Given the description of an element on the screen output the (x, y) to click on. 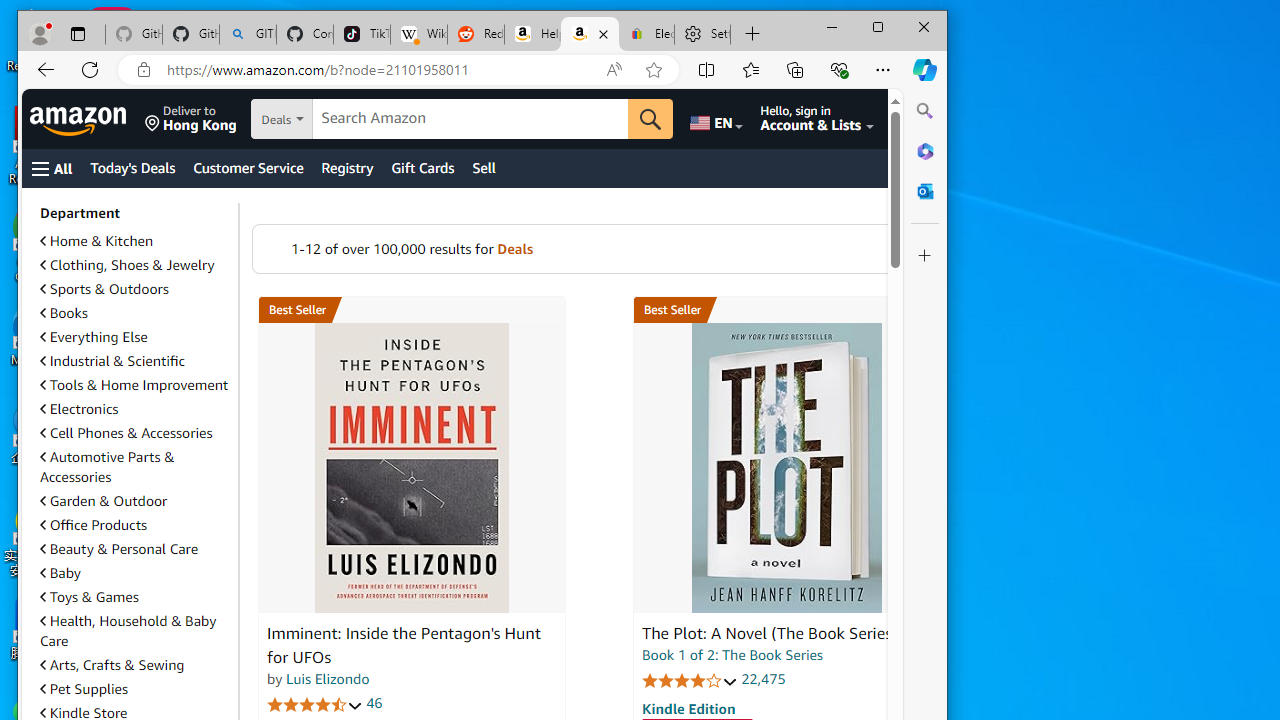
Returns & Orders (921, 119)
Choose a language for shopping. (715, 119)
Reddit - Dive into anything (476, 34)
Beauty & Personal Care (118, 549)
Baby (135, 573)
Health, Household & Baby Care (135, 630)
Arts, Crafts & Sewing (135, 665)
Electronics, Cars, Fashion, Collectibles & More | eBay (646, 34)
Sports & Outdoors (135, 288)
Cell Phones & Accessories (125, 433)
Industrial & Scientific (135, 360)
